Given the description of an element on the screen output the (x, y) to click on. 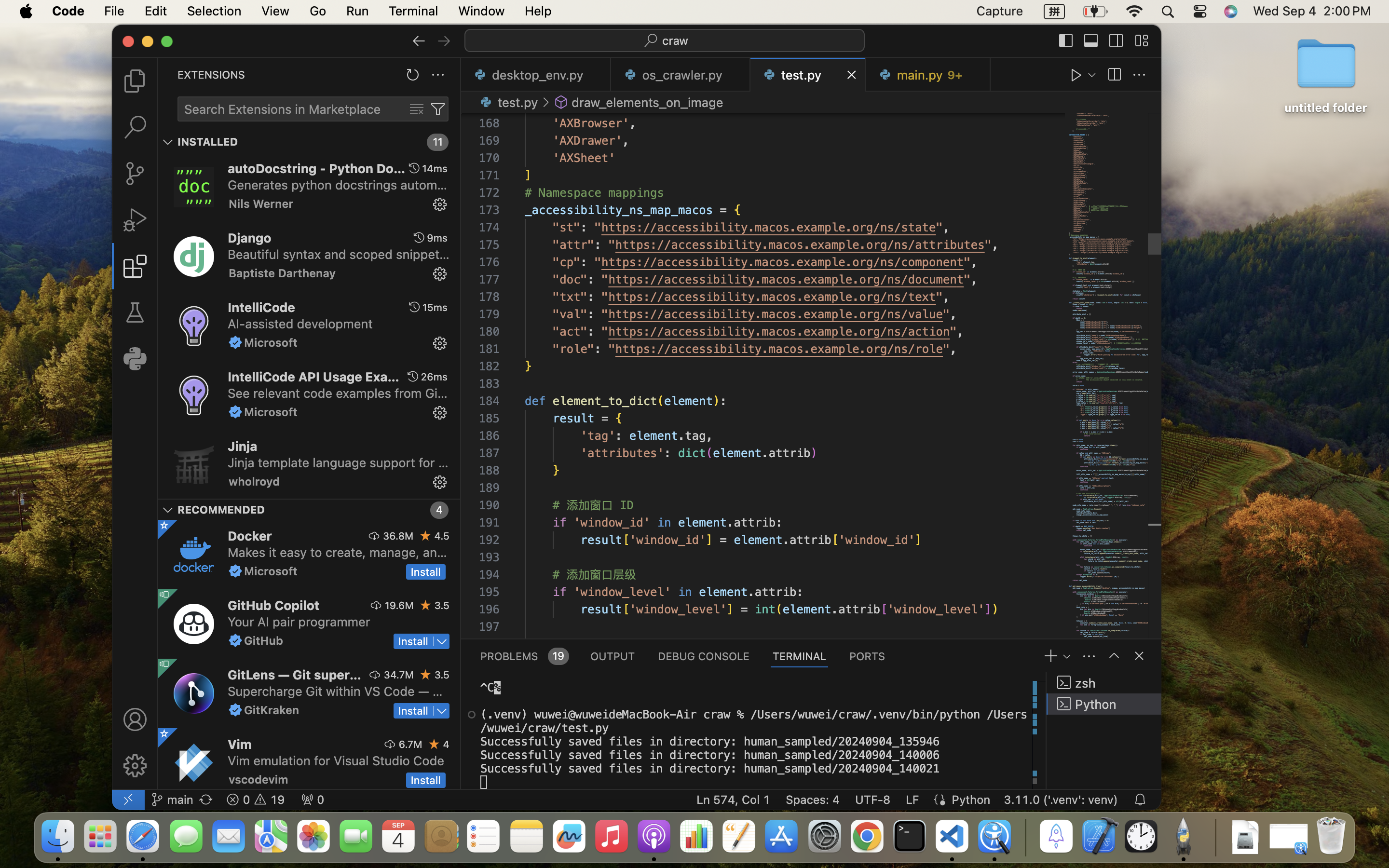
 Element type: AXStaticText (1138, 74)
0 os_crawler.py   Element type: AXRadioButton (680, 74)
Vim Element type: AXStaticText (239, 743)
GitHub Copilot Element type: AXStaticText (273, 604)
 Element type: AXStaticText (471, 714)
